Given the description of an element on the screen output the (x, y) to click on. 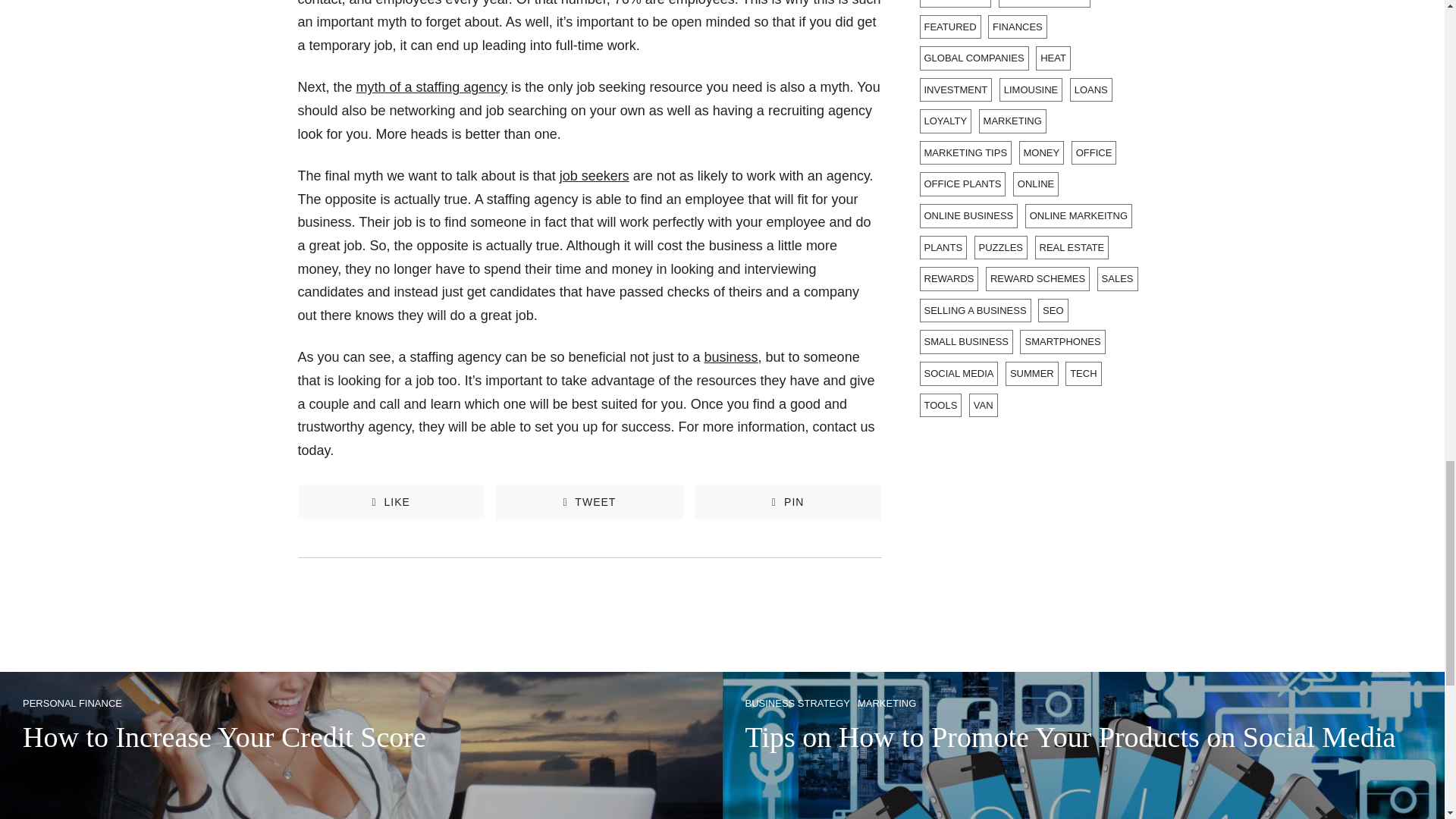
TWEET (589, 501)
job seekers (593, 175)
PIN (787, 501)
myth of a staffing agency (432, 87)
business (731, 356)
LIKE (390, 501)
